Given the description of an element on the screen output the (x, y) to click on. 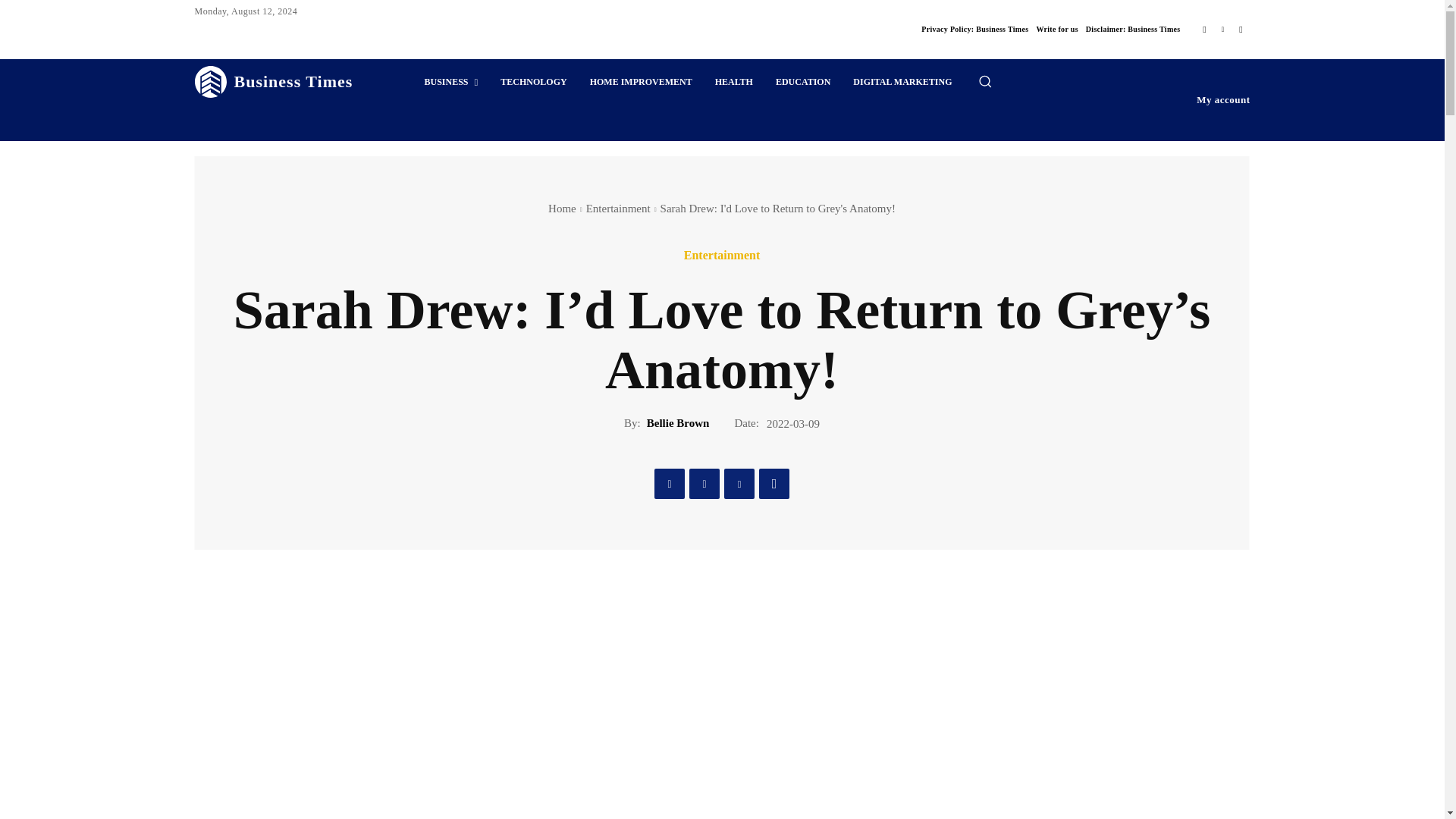
RSS (1240, 29)
Privacy Policy: Business Times (974, 29)
View all posts in Entertainment (618, 208)
Disclaimer: Business Times (1133, 29)
WhatsApp (773, 483)
HEALTH (733, 81)
Facebook (668, 483)
EDUCATION (802, 81)
BUSINESS (450, 81)
Entertainment (618, 208)
